Given the description of an element on the screen output the (x, y) to click on. 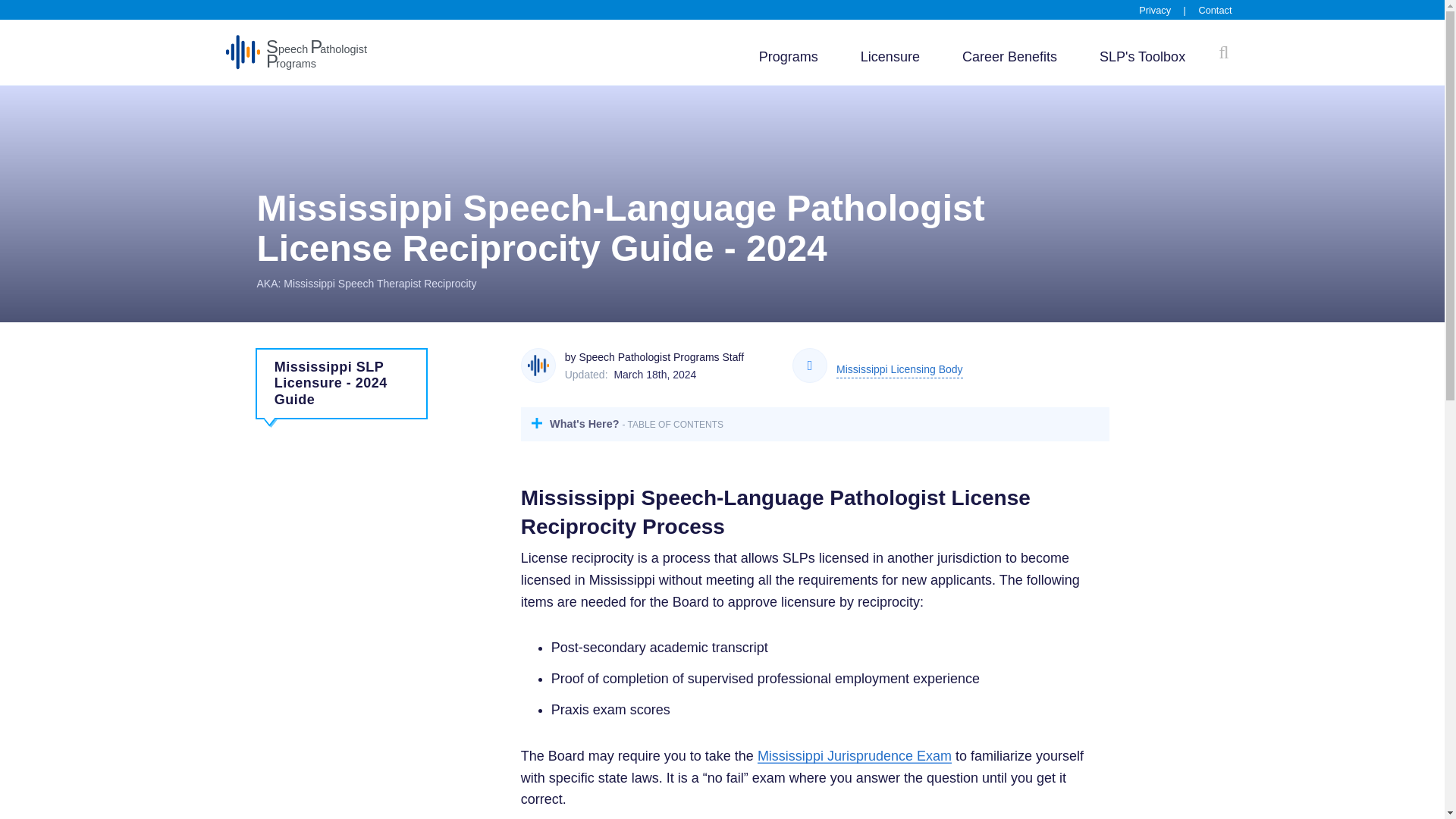
Programs (789, 57)
Contact (1214, 9)
Career Benefits (296, 52)
Privacy (1009, 57)
SLP's Toolbox (1154, 9)
Mississippi Jurisprudence Exam (1142, 57)
Mississippi SLP Licensure - 2024 Guide (854, 755)
Licensure (342, 383)
Mississippi Licensing Body (890, 57)
Search (898, 372)
